Given the description of an element on the screen output the (x, y) to click on. 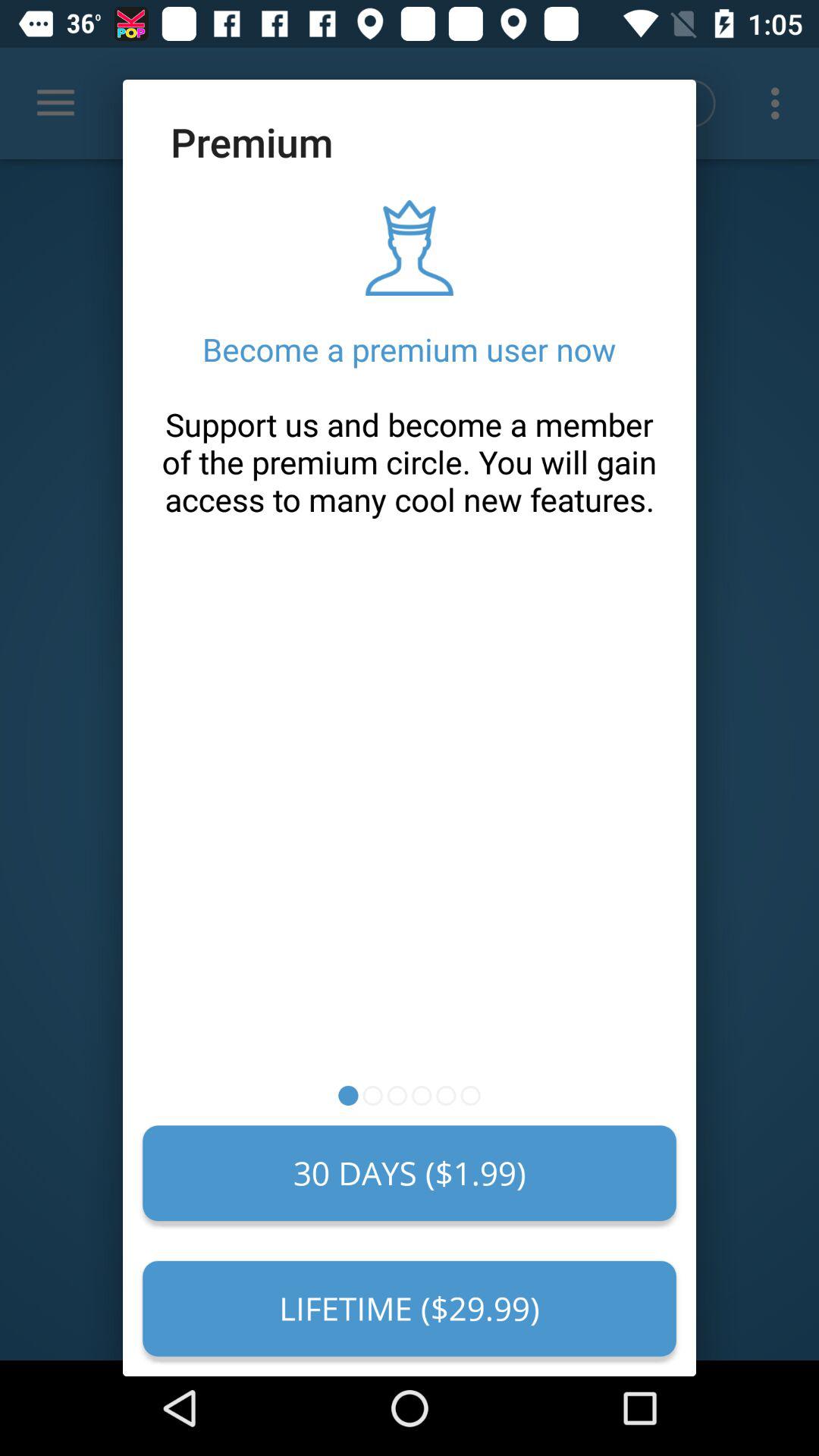
tap lifetime ($29.99) (409, 1308)
